Given the description of an element on the screen output the (x, y) to click on. 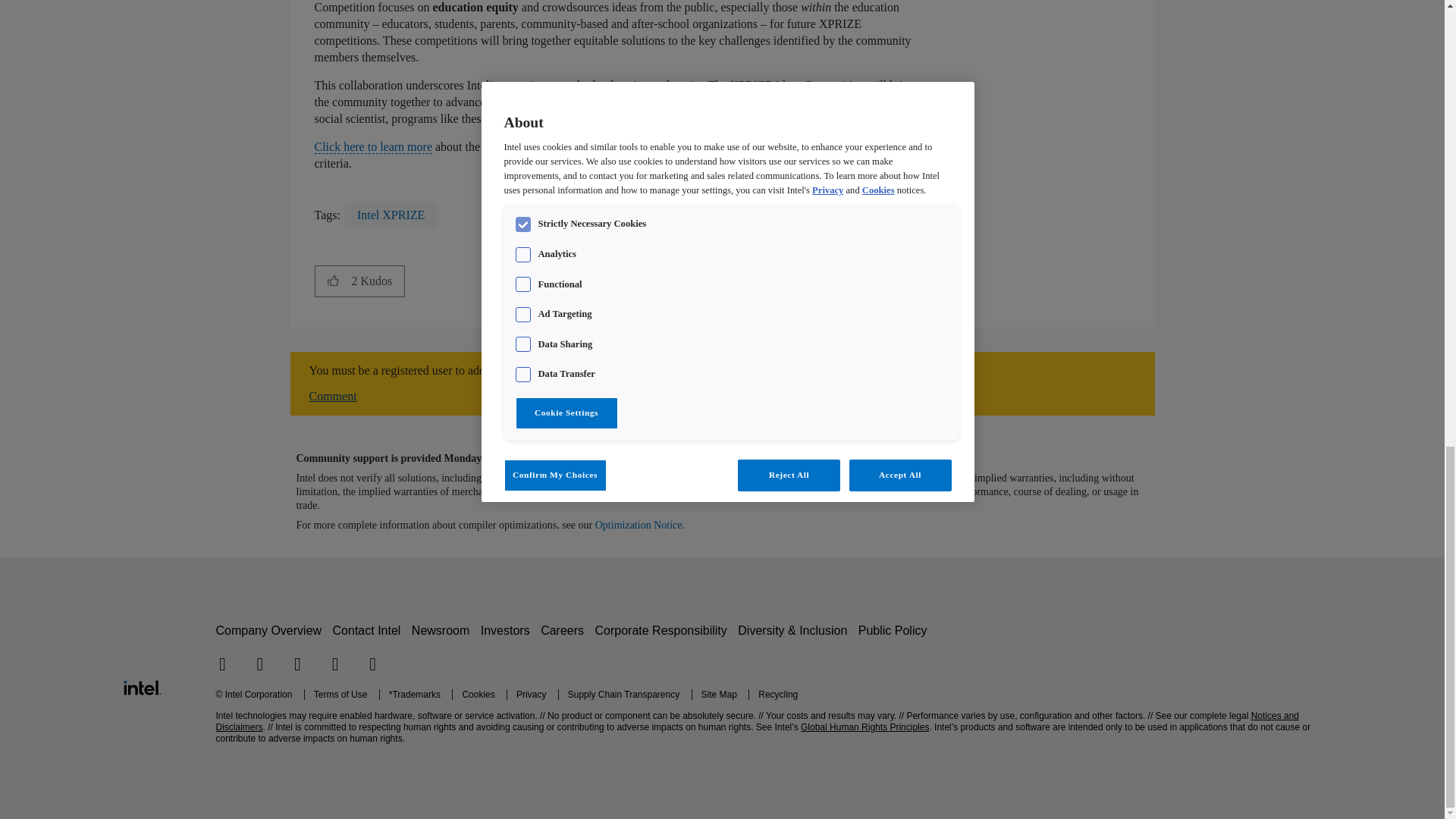
Click here to see who gave kudos to this post. (377, 281)
Click here to give kudos to this post. (332, 280)
Intel Footer Logo (141, 686)
